Given the description of an element on the screen output the (x, y) to click on. 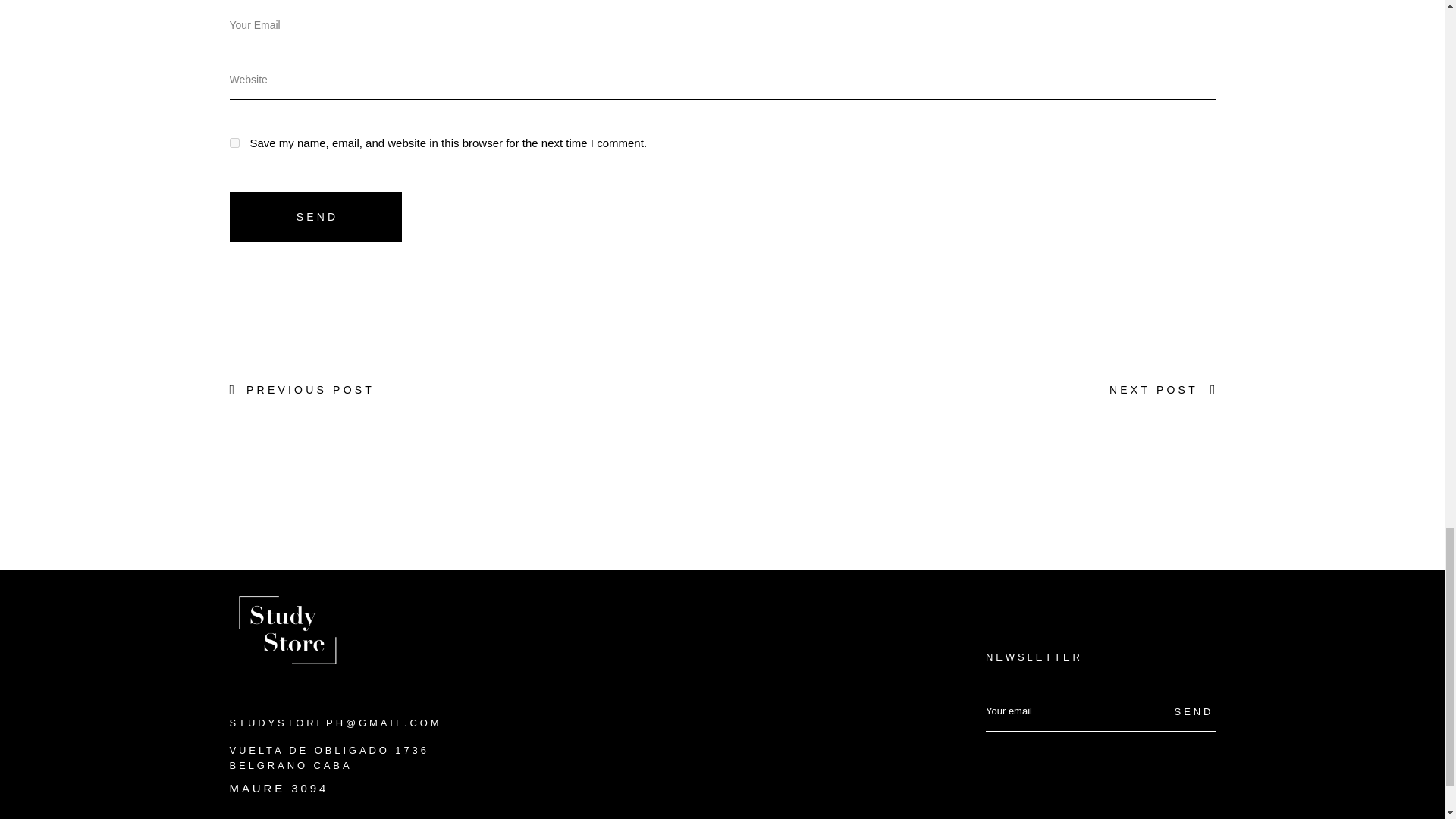
SEND (314, 216)
yes (233, 143)
Study Store (285, 626)
